Given the description of an element on the screen output the (x, y) to click on. 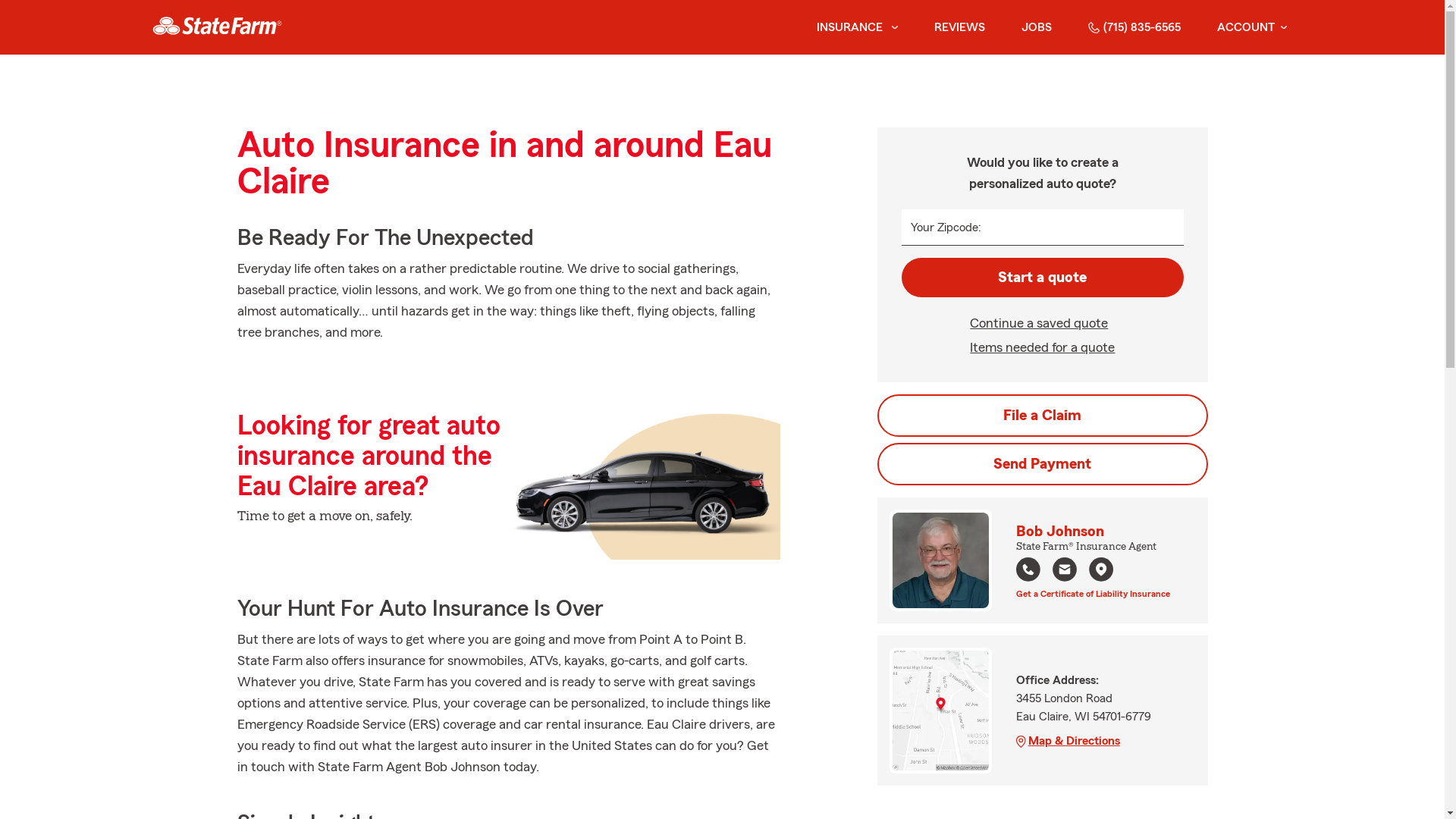
Continue a saved quote Element type: text (1041, 322)
JOBS Element type: text (1035, 27)
Map & Directions Element type: text (1092, 740)
Send Payment Element type: text (1042, 463)
File a Claim Element type: text (1042, 415)
INSURANCE Element type: text (846, 27)
ACCOUNT Element type: text (1251, 27)
(715) 835-6565 Element type: text (1133, 27)
Start a quote Element type: text (1042, 277)
Items needed for a quote Element type: text (1041, 346)
REVIEWS Element type: text (959, 27)
Get a Certificate of Liability Insurance Element type: text (1093, 592)
